Given the description of an element on the screen output the (x, y) to click on. 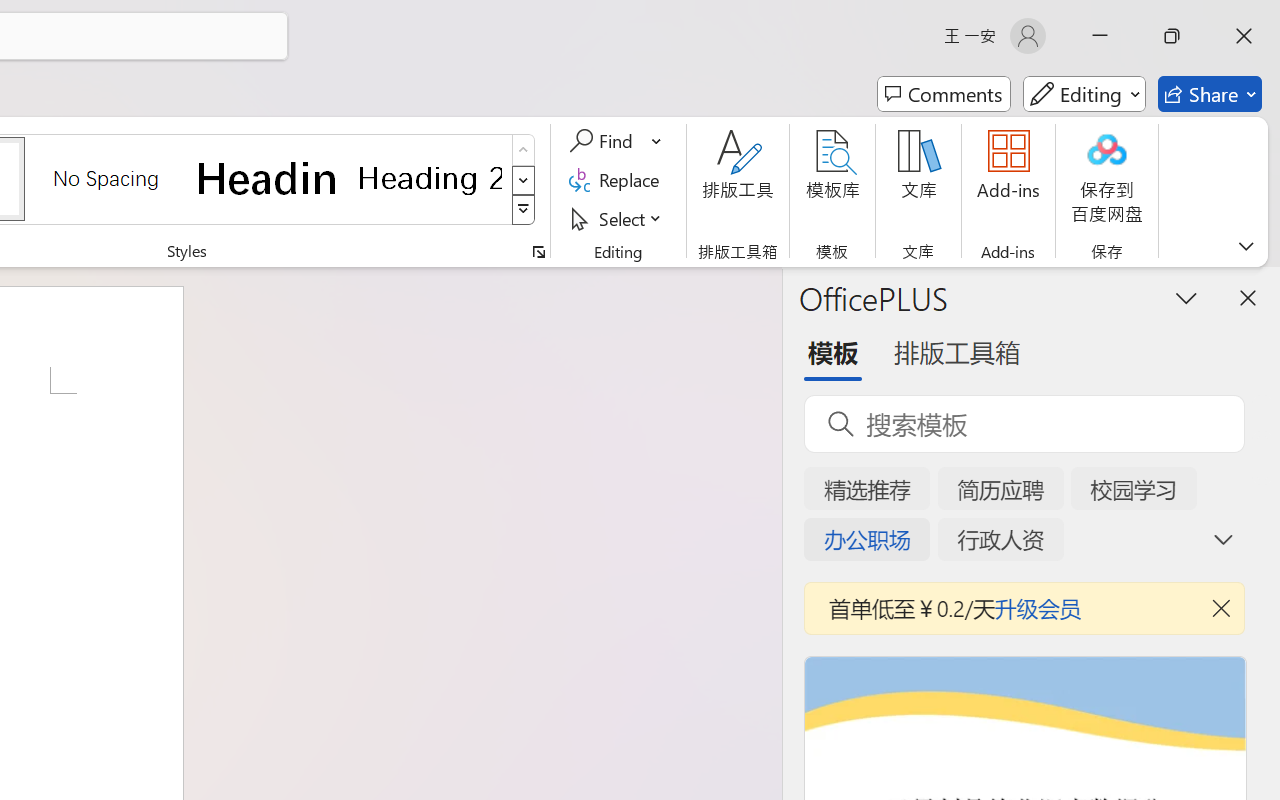
Heading 2 (429, 178)
Minimize (1099, 36)
Row Down (523, 180)
Mode (1083, 94)
Close (1244, 36)
Replace... (617, 179)
